Given the description of an element on the screen output the (x, y) to click on. 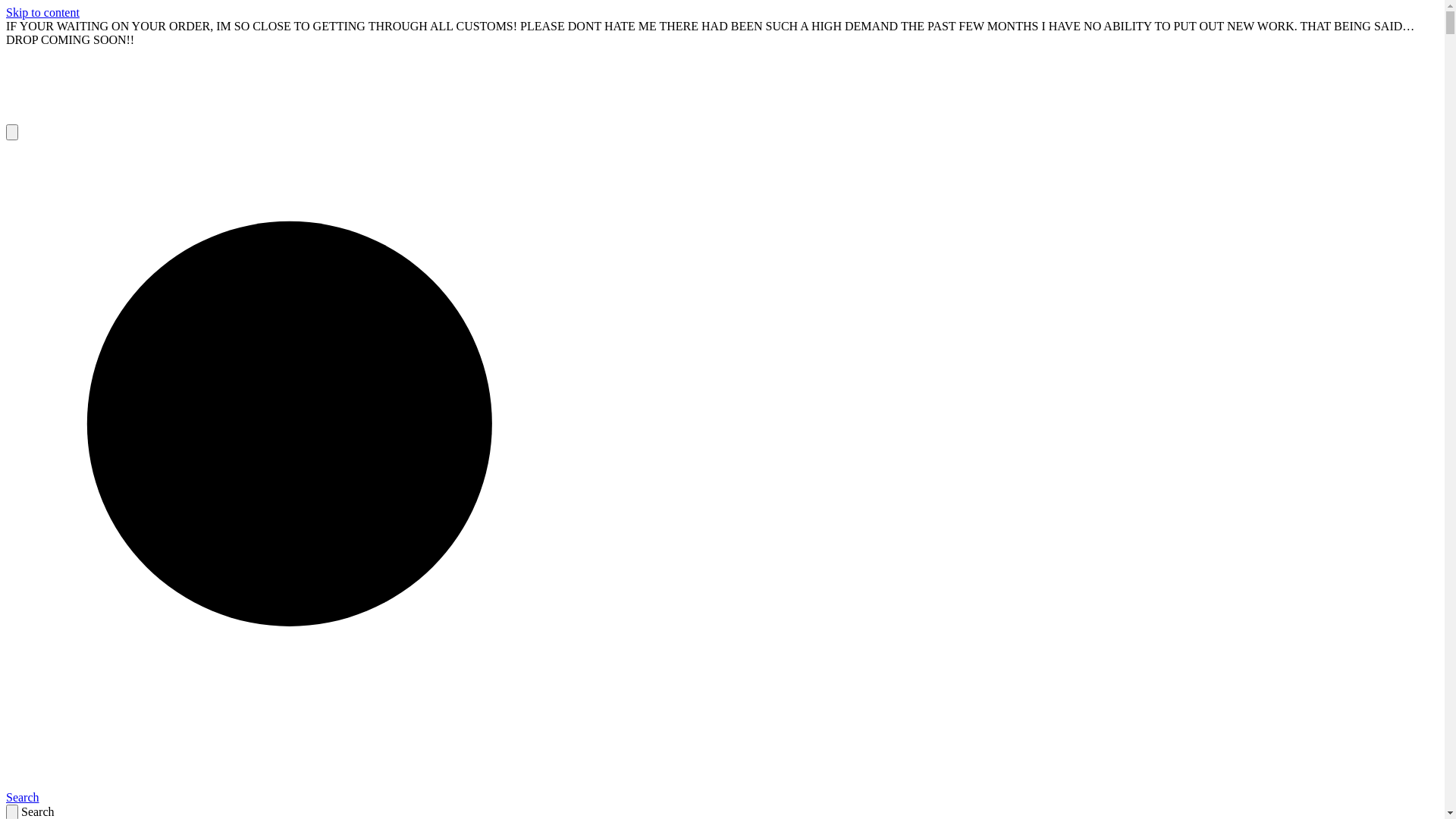
Skip to content Element type: text (42, 12)
Search Element type: text (330, 790)
